Given the description of an element on the screen output the (x, y) to click on. 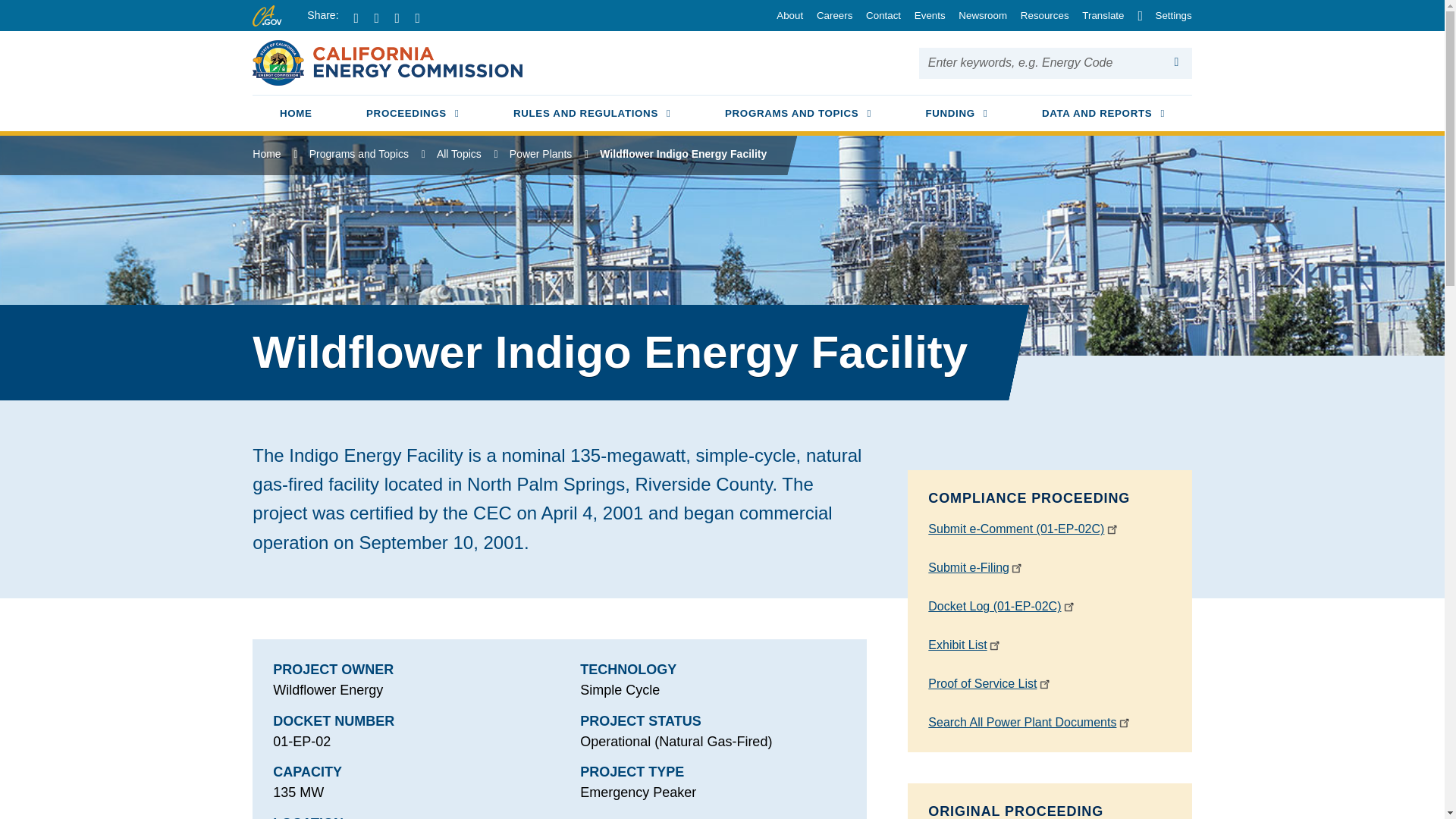
Events (924, 15)
Translate (1097, 15)
Resources (1039, 15)
Careers (829, 15)
HOME (295, 115)
California Energy Commission (386, 61)
Newsroom (978, 15)
Contact (878, 15)
About (785, 15)
Share via Facebook (362, 18)
SEARCH (1176, 62)
Share via Email (423, 18)
CA.gov (412, 115)
